Given the description of an element on the screen output the (x, y) to click on. 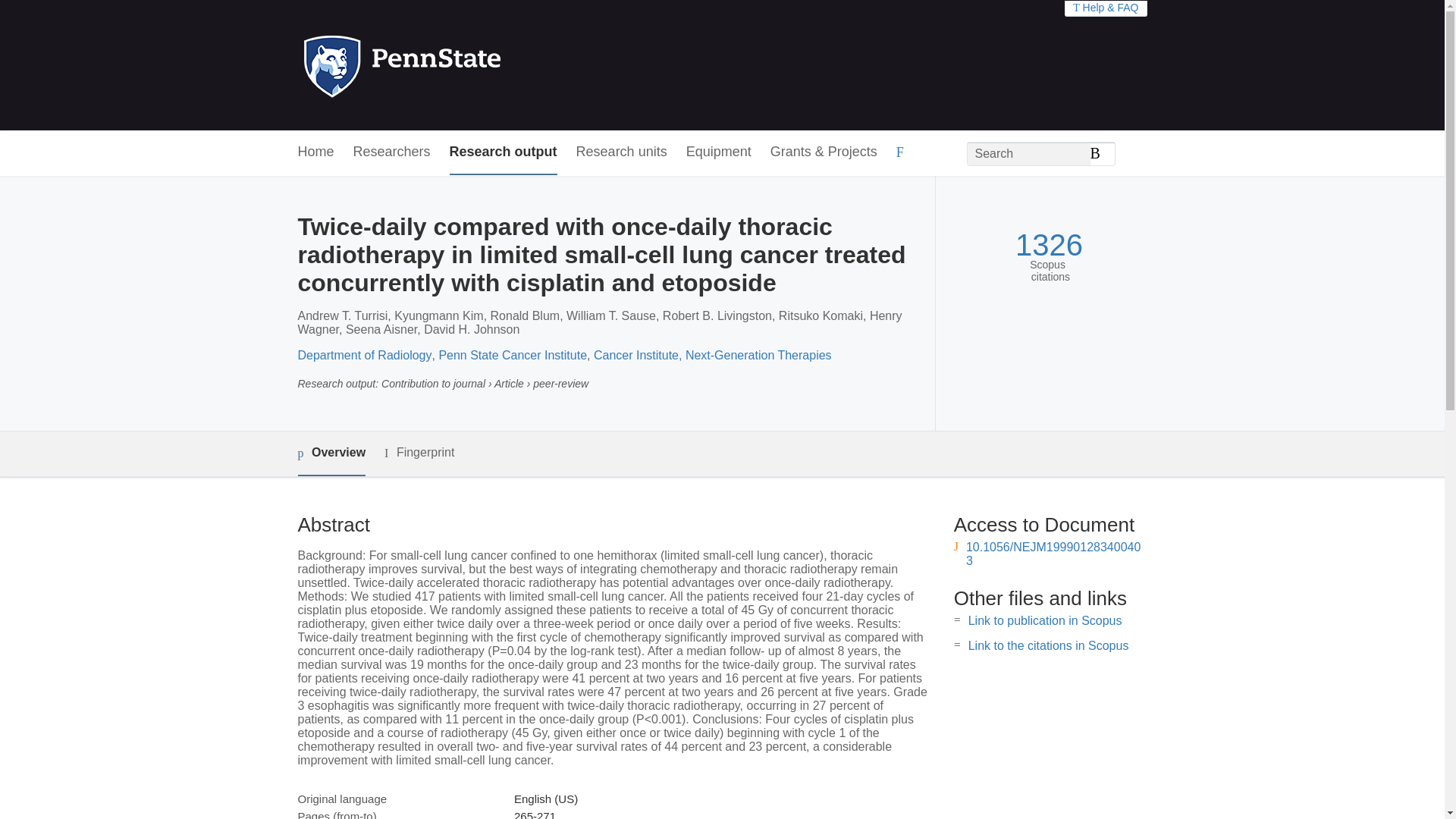
Research output (503, 152)
Link to publication in Scopus (1045, 620)
Fingerprint (419, 453)
Penn State Cancer Institute (512, 354)
1326 (1048, 244)
Link to the citations in Scopus (1048, 645)
Equipment (718, 152)
Researchers (391, 152)
Overview (331, 453)
